Given the description of an element on the screen output the (x, y) to click on. 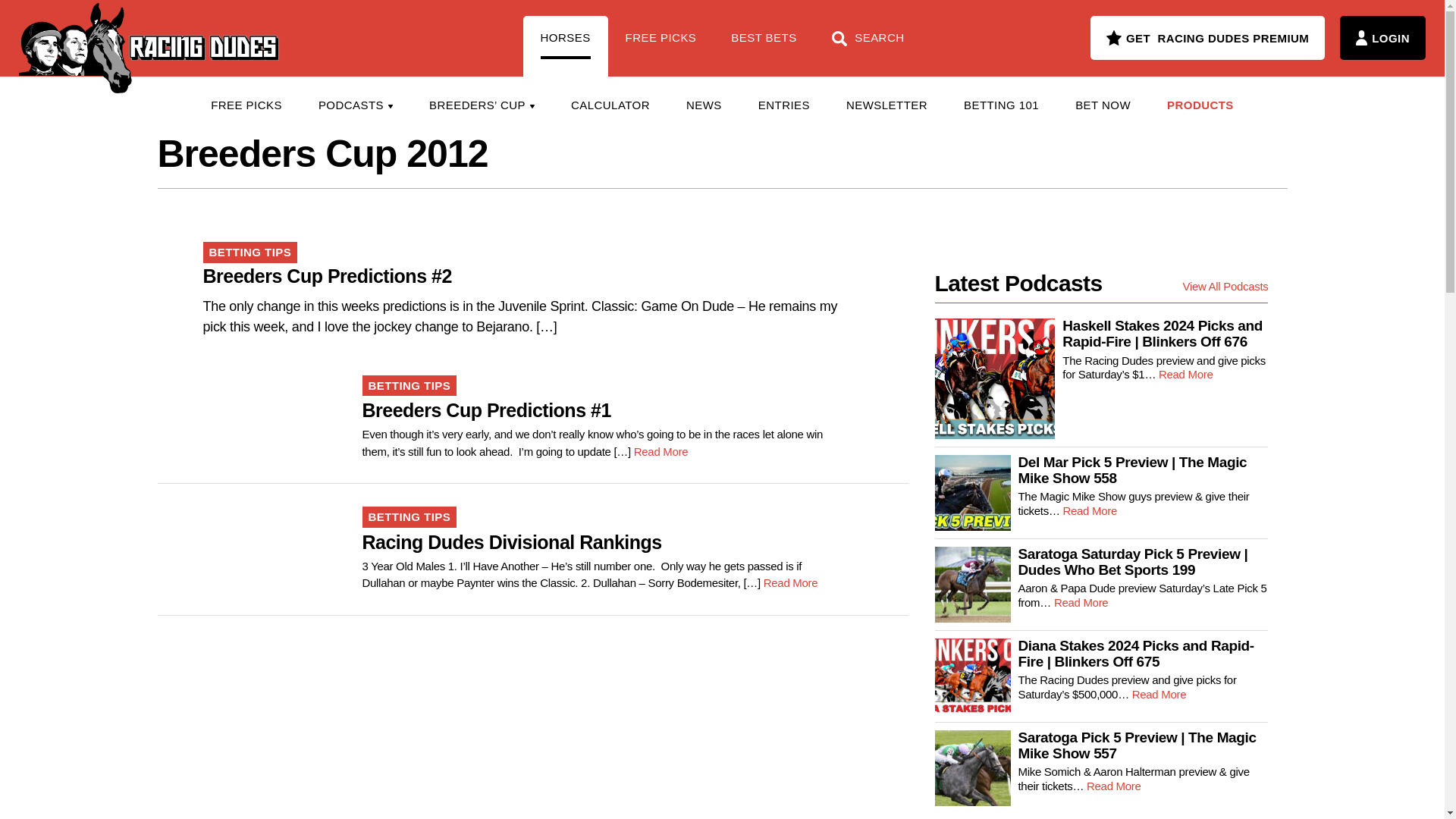
FREE PICKS (245, 105)
PODCASTS (354, 105)
LOGIN (1382, 37)
GET  RACING DUDES PREMIUM (1207, 37)
FREE PICKS (661, 45)
HORSES (565, 45)
 SEARCH (867, 45)
BEST BETS (763, 45)
